Given the description of an element on the screen output the (x, y) to click on. 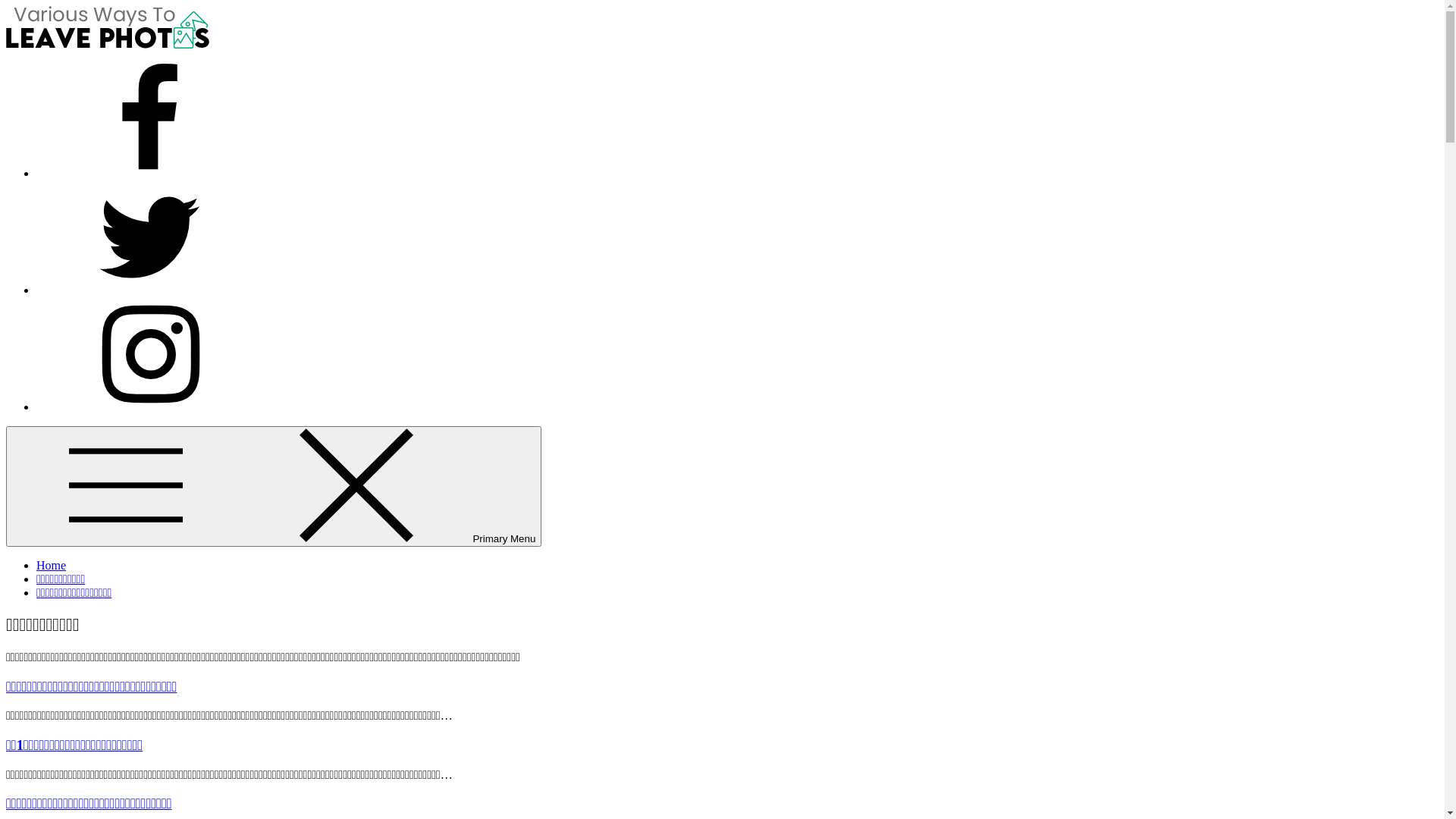
Home Element type: text (50, 564)
Twitter Element type: text (149, 289)
Instragram Element type: text (149, 406)
Primary Menu Element type: text (273, 486)
Facebook Element type: text (149, 172)
